Given the description of an element on the screen output the (x, y) to click on. 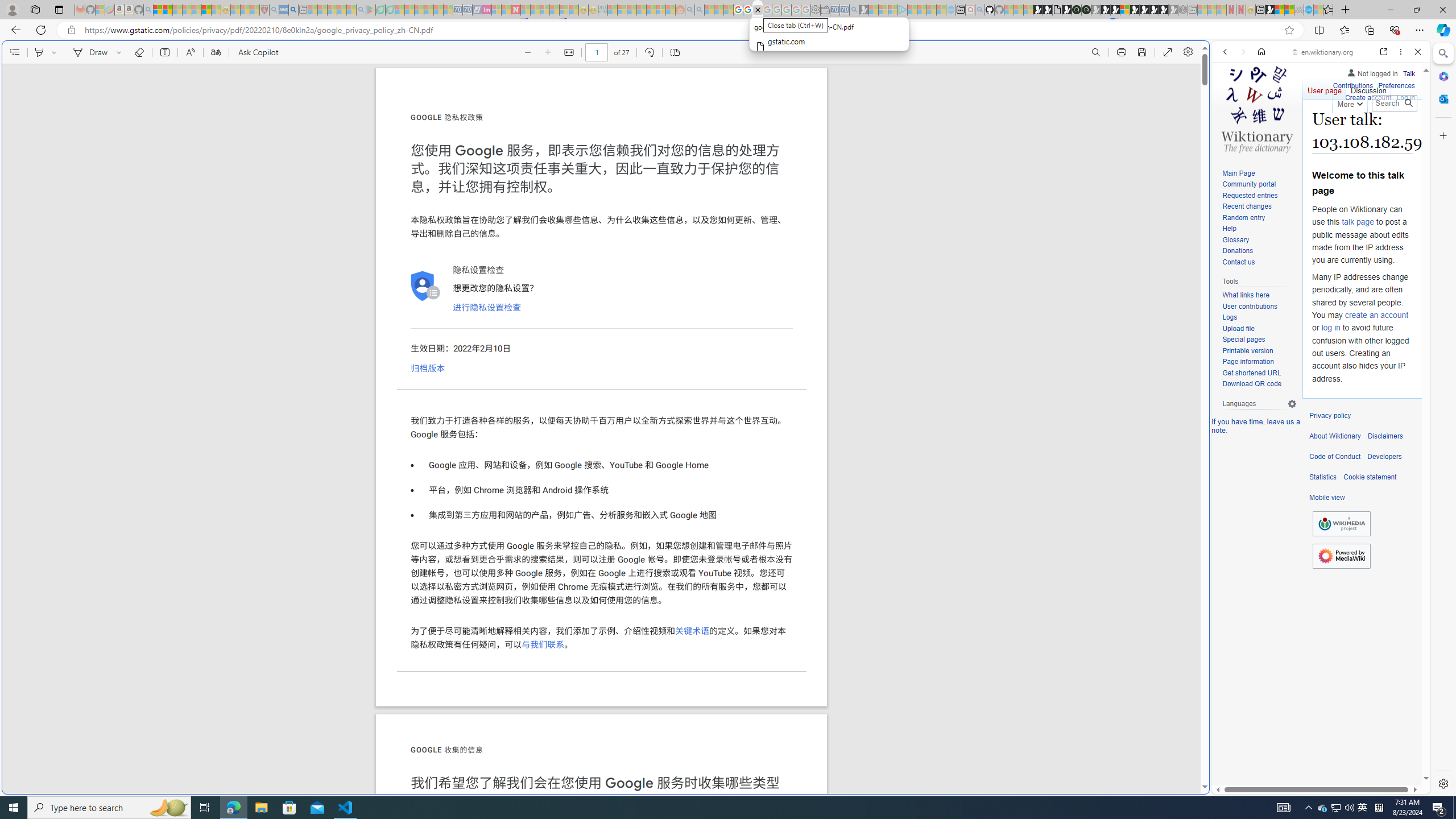
Address and search bar (681, 29)
Recent changes (1246, 206)
Read aloud (189, 52)
Print (Ctrl+P) (1121, 52)
Page number (596, 52)
Developers (1384, 456)
Recipes - MSN - Sleeping (234, 9)
Cookie statement (1369, 477)
